Given the description of an element on the screen output the (x, y) to click on. 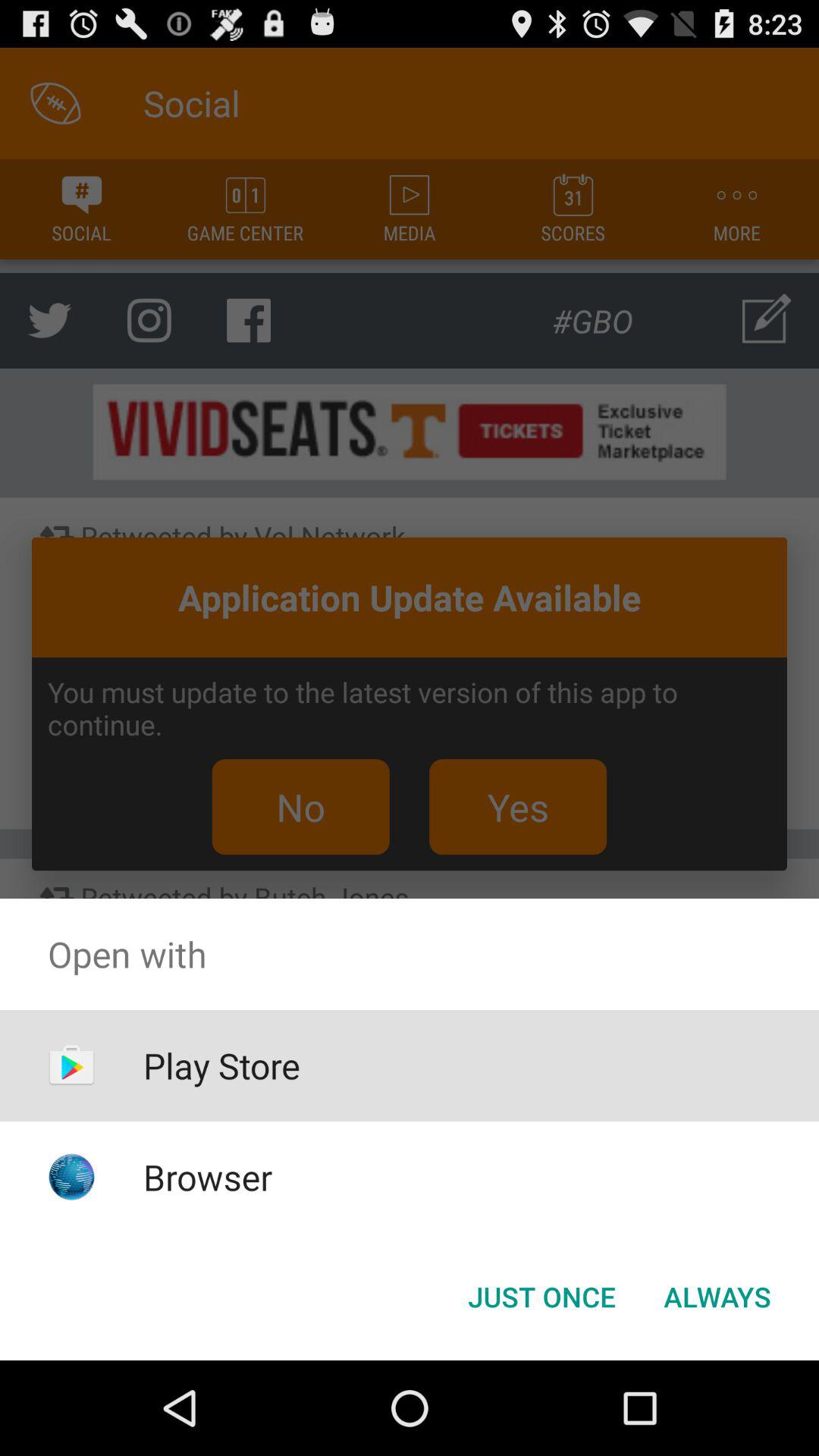
choose the icon next to just once button (717, 1296)
